Given the description of an element on the screen output the (x, y) to click on. 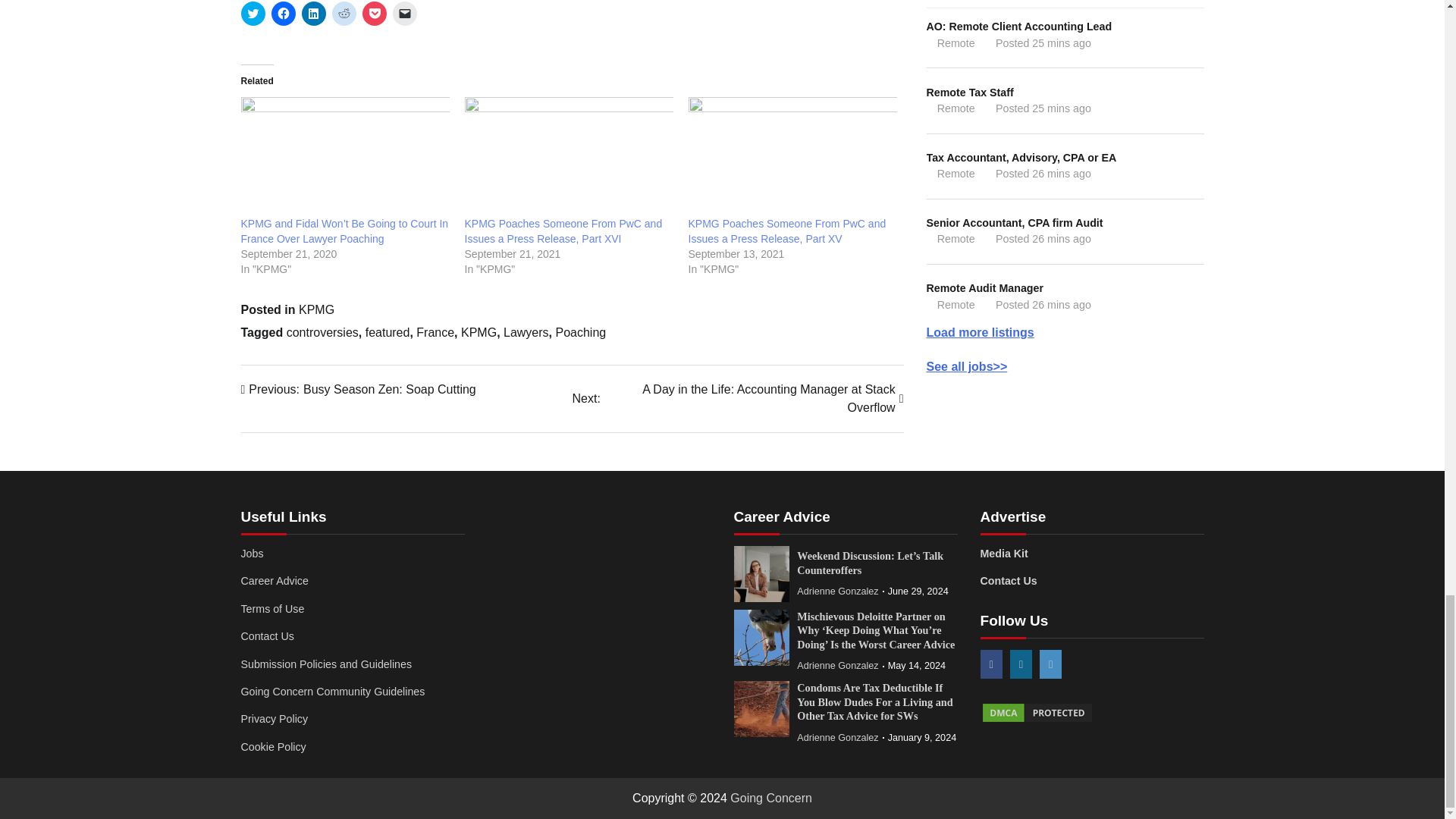
Click to share on Reddit (343, 13)
Click to email a link to a friend (404, 13)
Click to share on Twitter (252, 13)
Click to share on LinkedIn (313, 13)
Click to share on Facebook (282, 13)
Click to share on Pocket (374, 13)
